Given the description of an element on the screen output the (x, y) to click on. 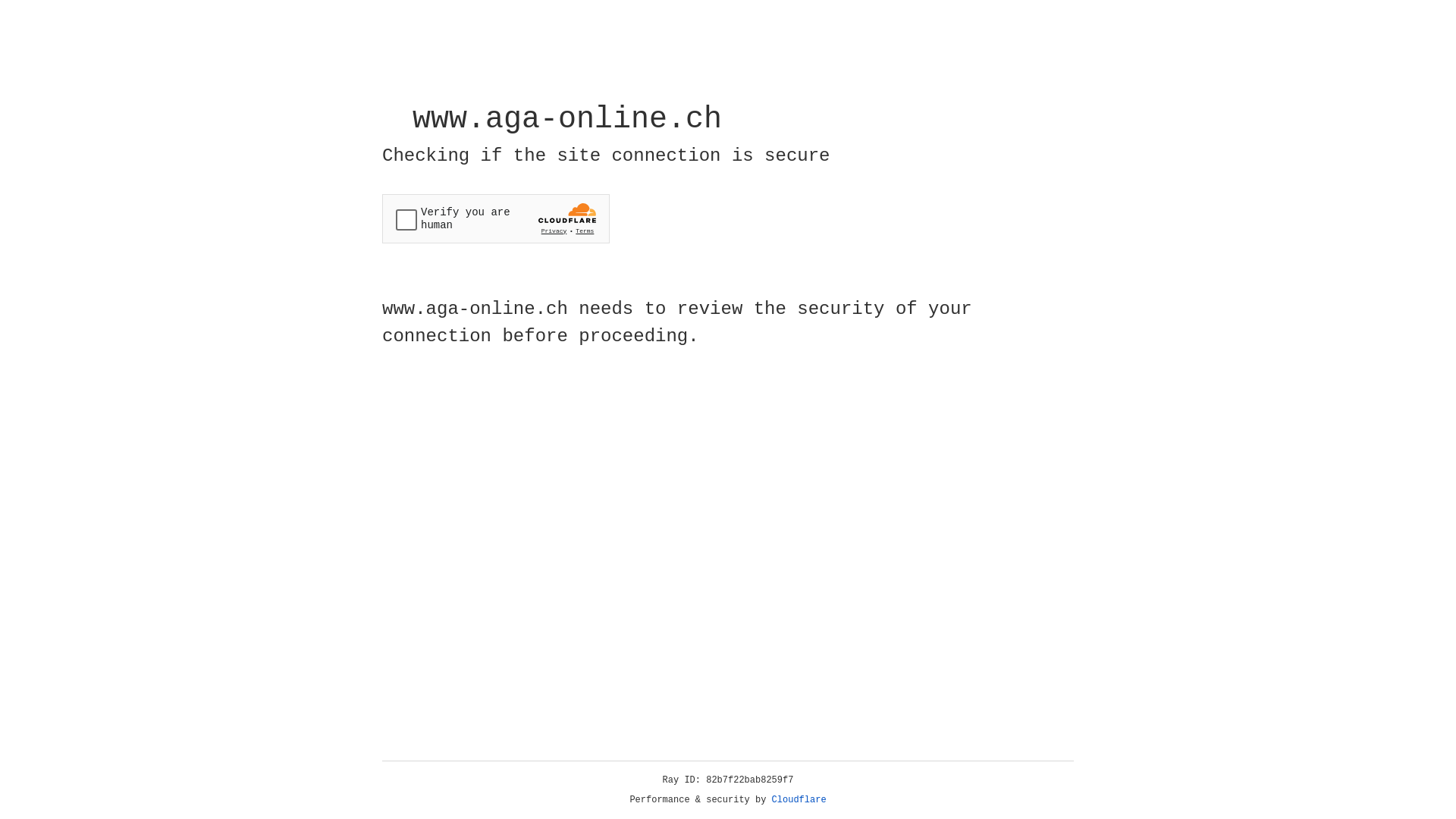
Widget containing a Cloudflare security challenge Element type: hover (495, 218)
Cloudflare Element type: text (798, 799)
